Given the description of an element on the screen output the (x, y) to click on. 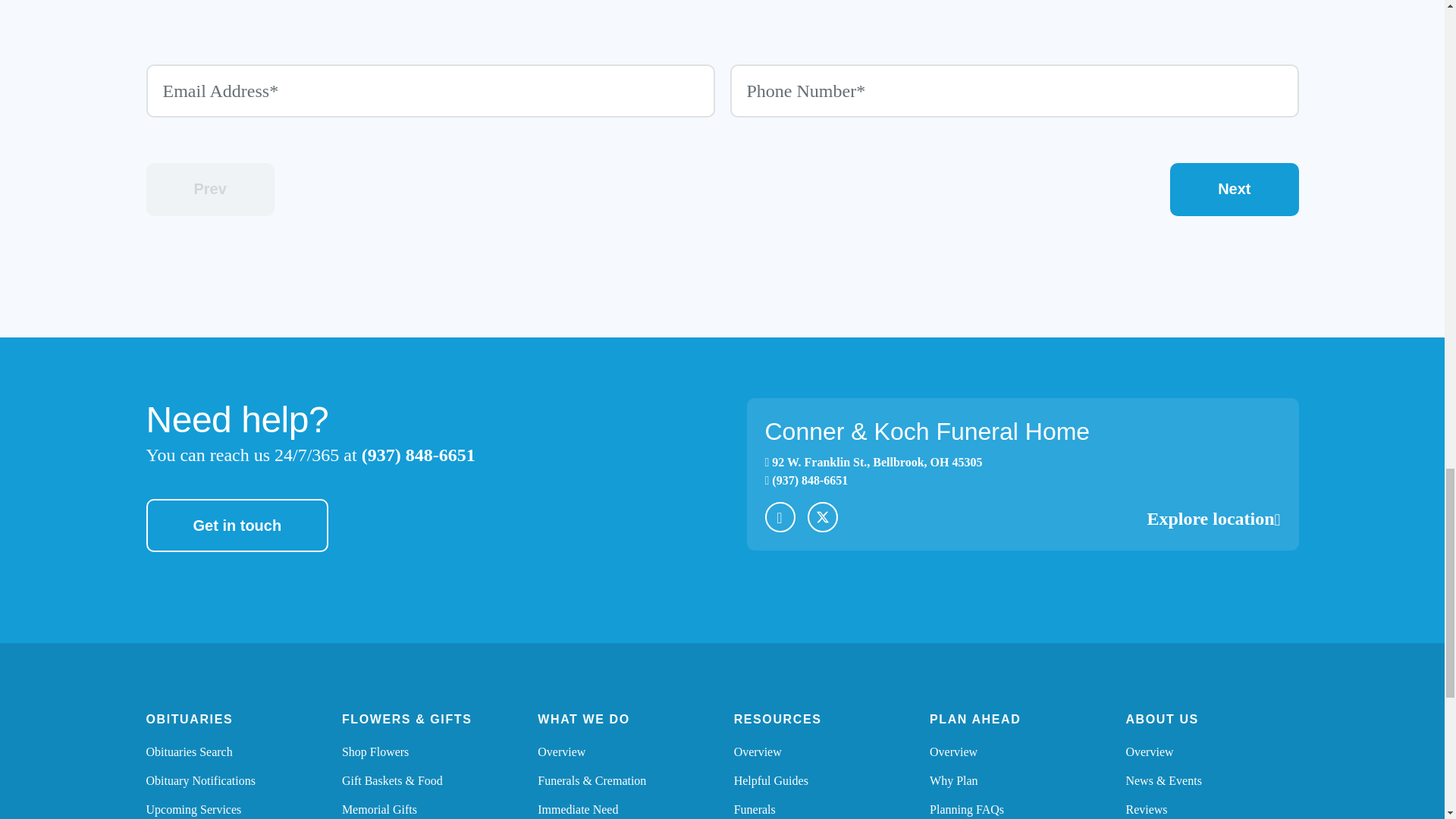
Get in touch (237, 525)
Next (1234, 189)
Prev (209, 189)
